Given the description of an element on the screen output the (x, y) to click on. 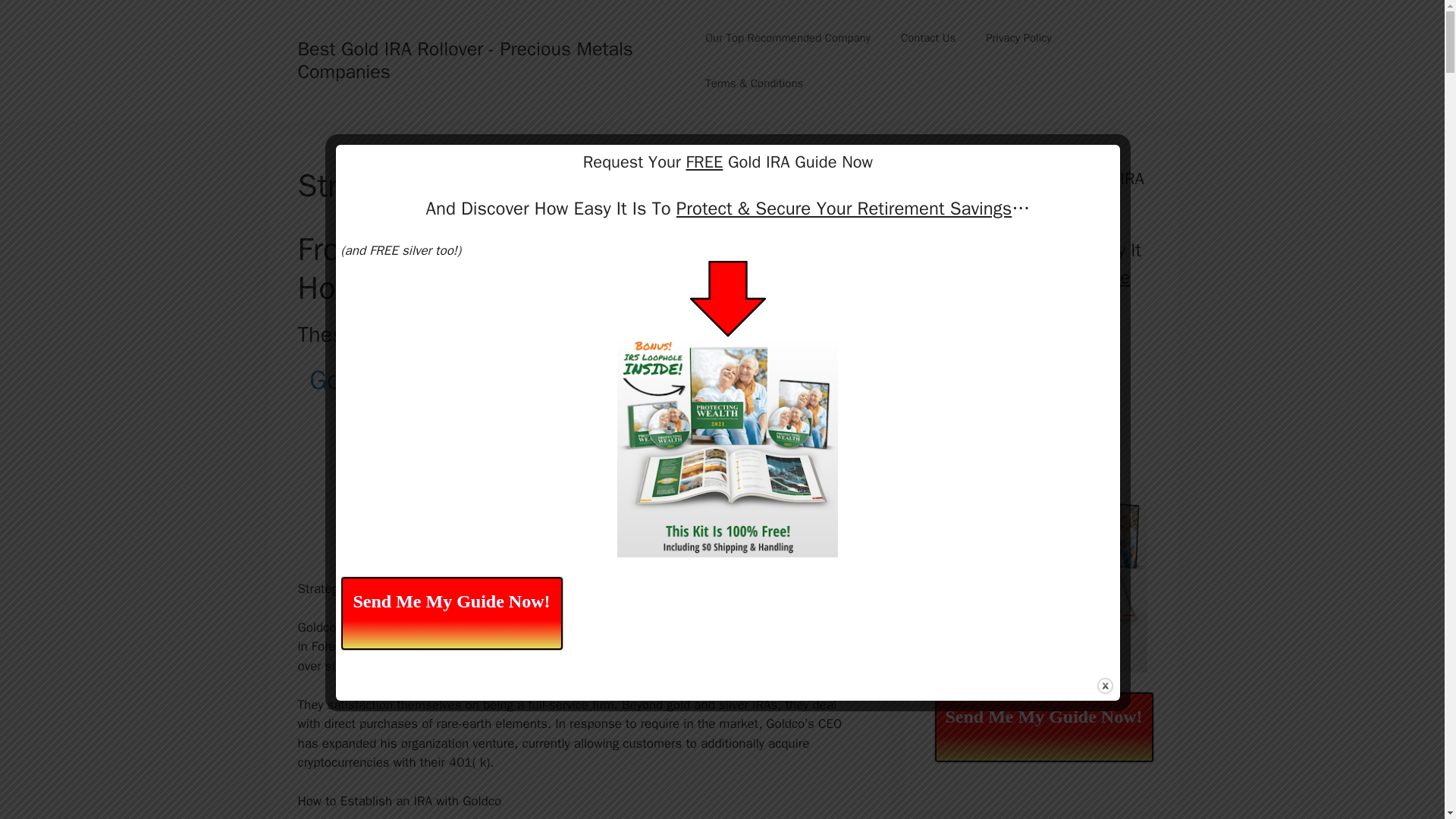
Close (1105, 685)
Goldco (348, 379)
Best Gold IRA Rollover - Precious Metals Companies (464, 59)
GET THEIR FREE GUIDE (577, 524)
Privacy Policy (1019, 37)
Send Me My Guide Now! (451, 613)
Our Top Recommended Company (787, 37)
Contact Us (928, 37)
Send Me My Guide Now! (1043, 727)
